Given the description of an element on the screen output the (x, y) to click on. 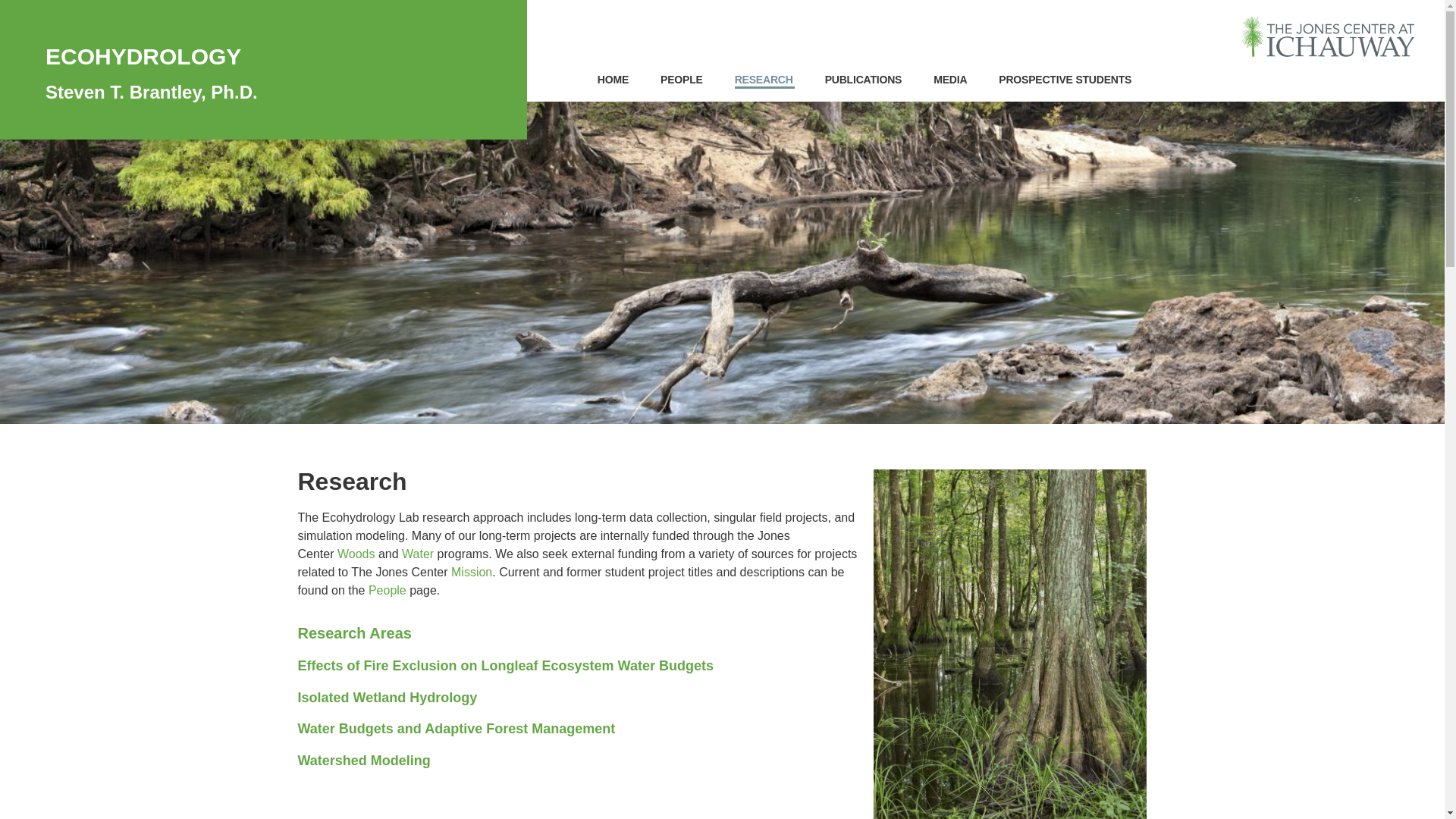
RESEARCH (764, 80)
PEOPLE (682, 80)
Woods (356, 553)
Water (417, 553)
PUBLICATIONS (864, 80)
MEDIA (950, 80)
HOME (613, 80)
PROSPECTIVE STUDENTS (1065, 80)
